Given the description of an element on the screen output the (x, y) to click on. 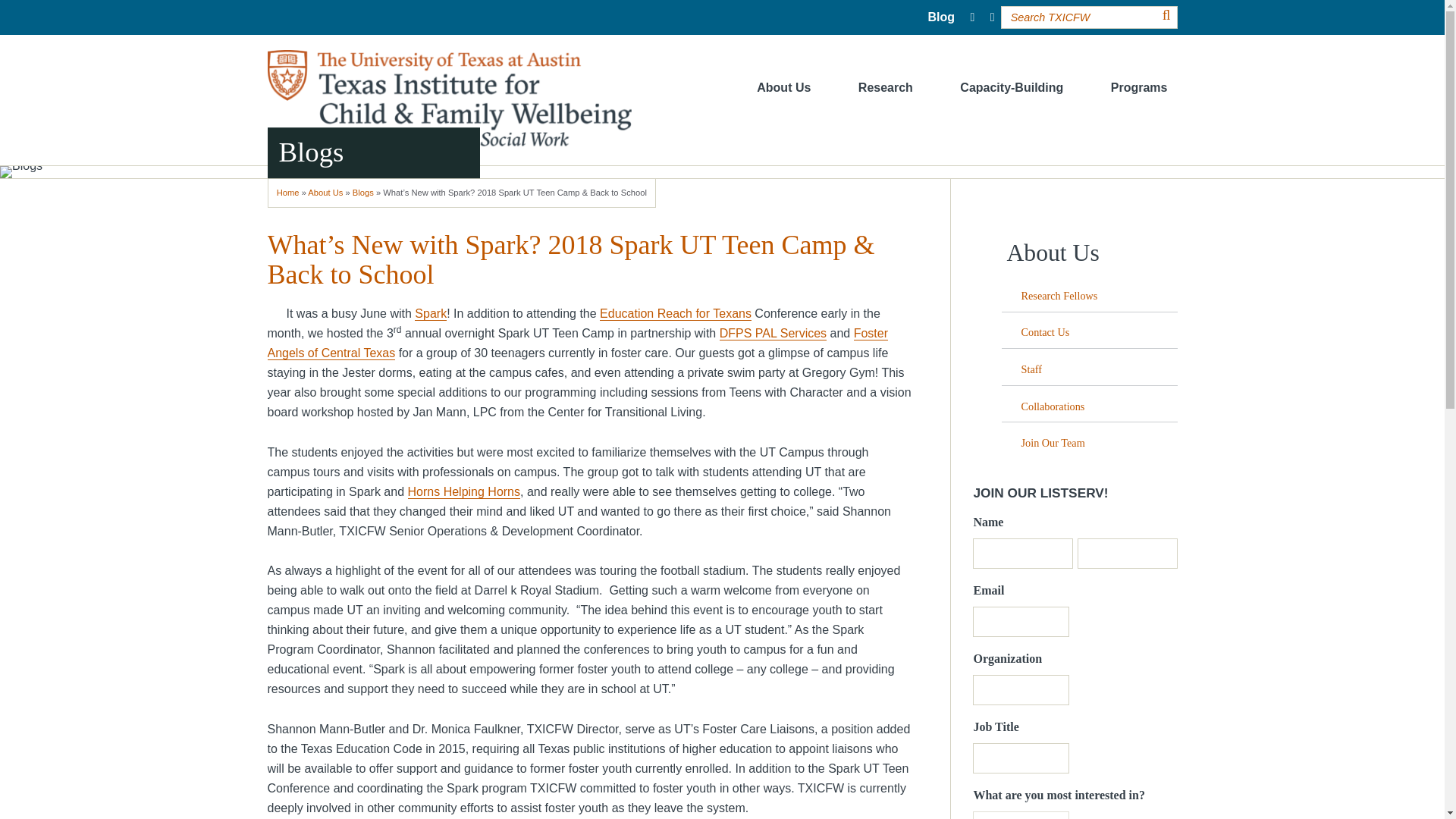
About Us (783, 87)
LinkedIn (992, 16)
Capacity-Building (1011, 88)
Facebook (972, 16)
Programs (1138, 87)
Blog (940, 16)
Search (1165, 14)
Research (885, 87)
